Given the description of an element on the screen output the (x, y) to click on. 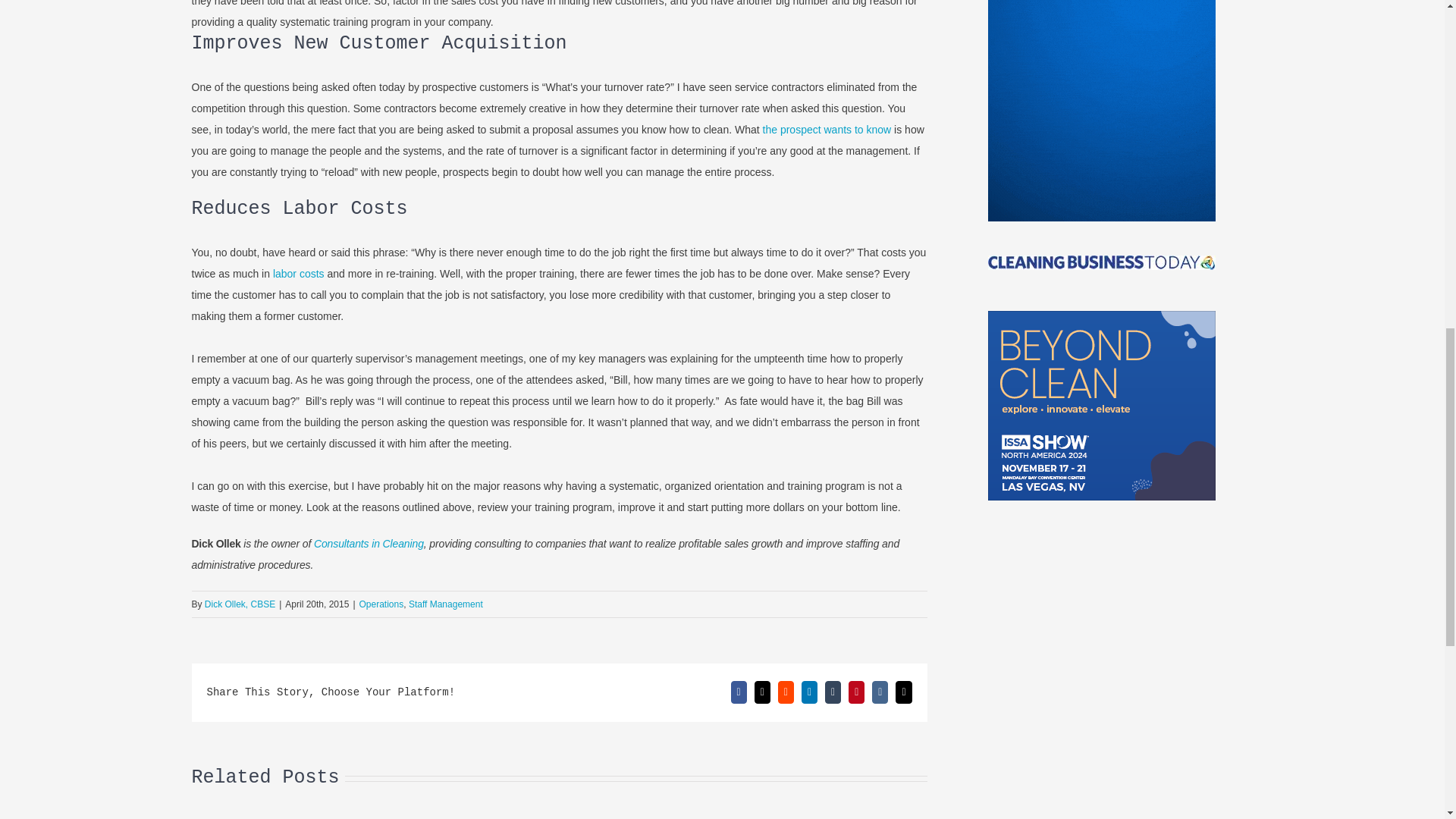
Posts by Dick Ollek, CBSE (240, 603)
